Given the description of an element on the screen output the (x, y) to click on. 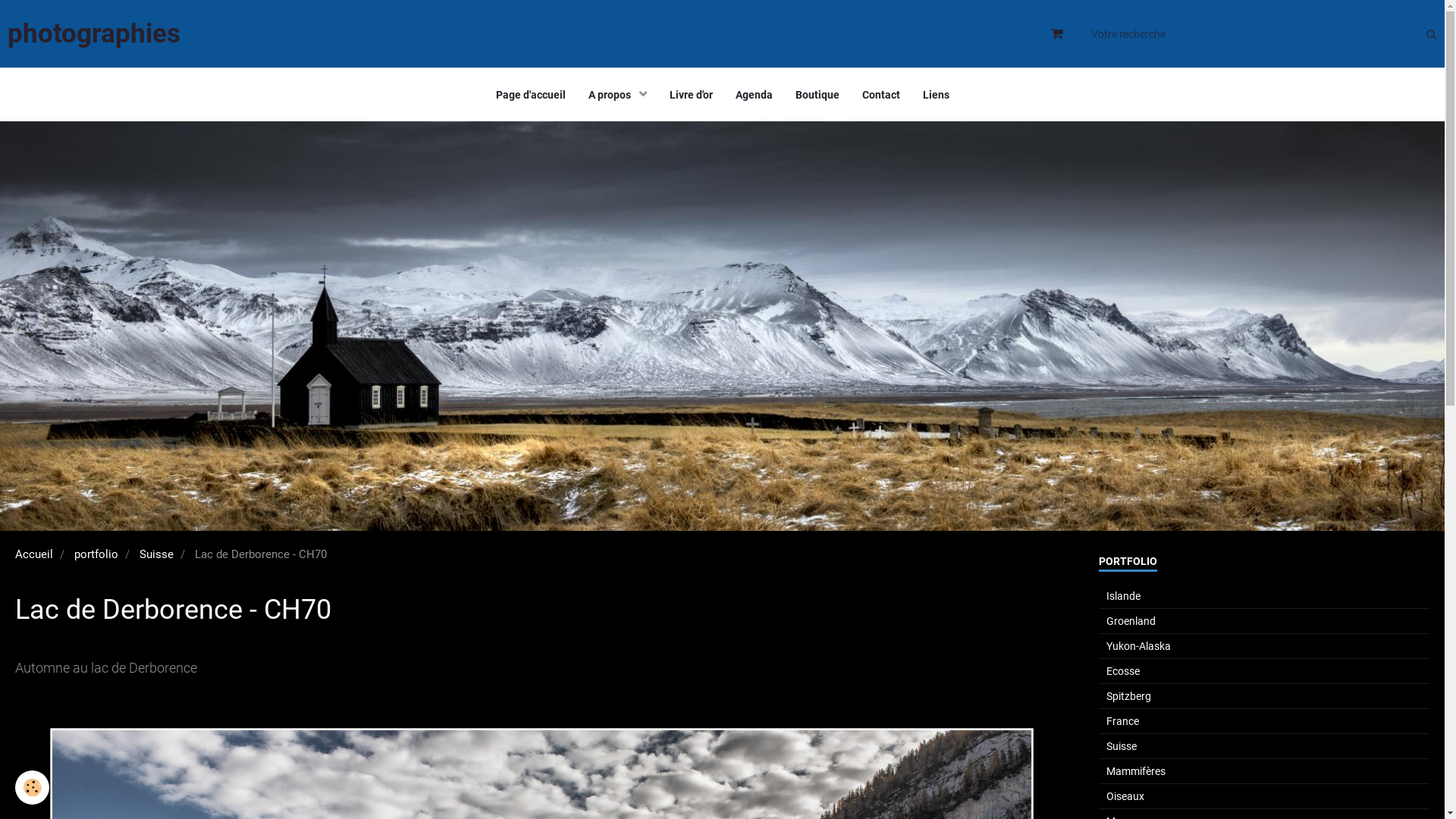
Islande Element type: text (1263, 595)
France Element type: text (1263, 721)
Suisse Element type: text (1263, 746)
Budir Element type: hover (722, 325)
Suisse Element type: text (156, 554)
Ecosse Element type: text (1263, 670)
Accueil Element type: text (34, 554)
Yukon-Alaska Element type: text (1263, 645)
Livre d'or Element type: text (691, 94)
Boutique Element type: text (817, 94)
A propos Element type: text (616, 94)
photographies Element type: text (93, 34)
Contact Element type: text (880, 94)
portfolio Element type: text (96, 554)
Spitzberg Element type: text (1263, 696)
Agenda Element type: text (753, 94)
Liens Element type: text (935, 94)
Oiseaux Element type: text (1263, 796)
Groenland Element type: text (1263, 620)
Page d'accueil Element type: text (529, 94)
